Given the description of an element on the screen output the (x, y) to click on. 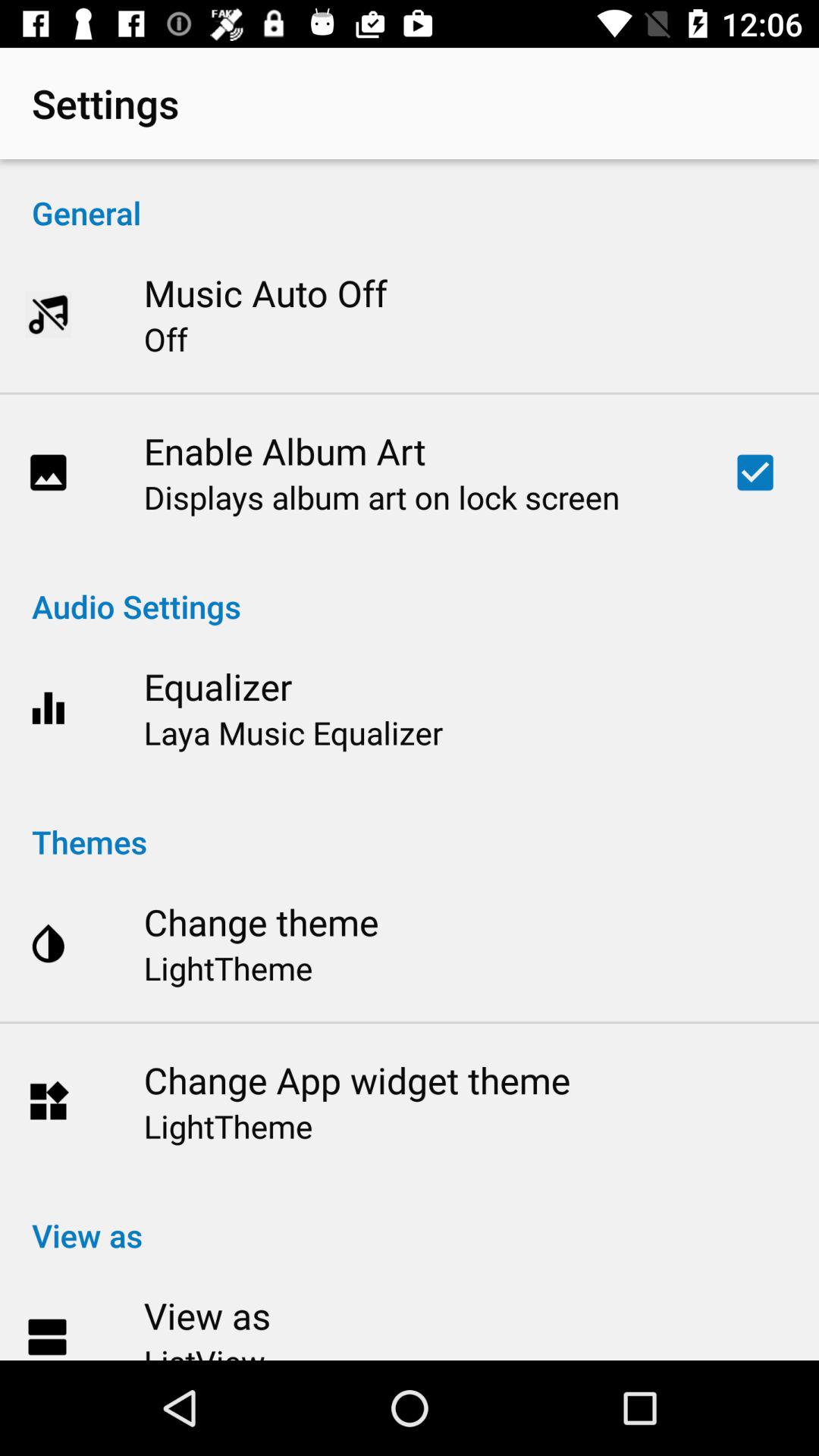
scroll to the laya music equalizer item (293, 732)
